Given the description of an element on the screen output the (x, y) to click on. 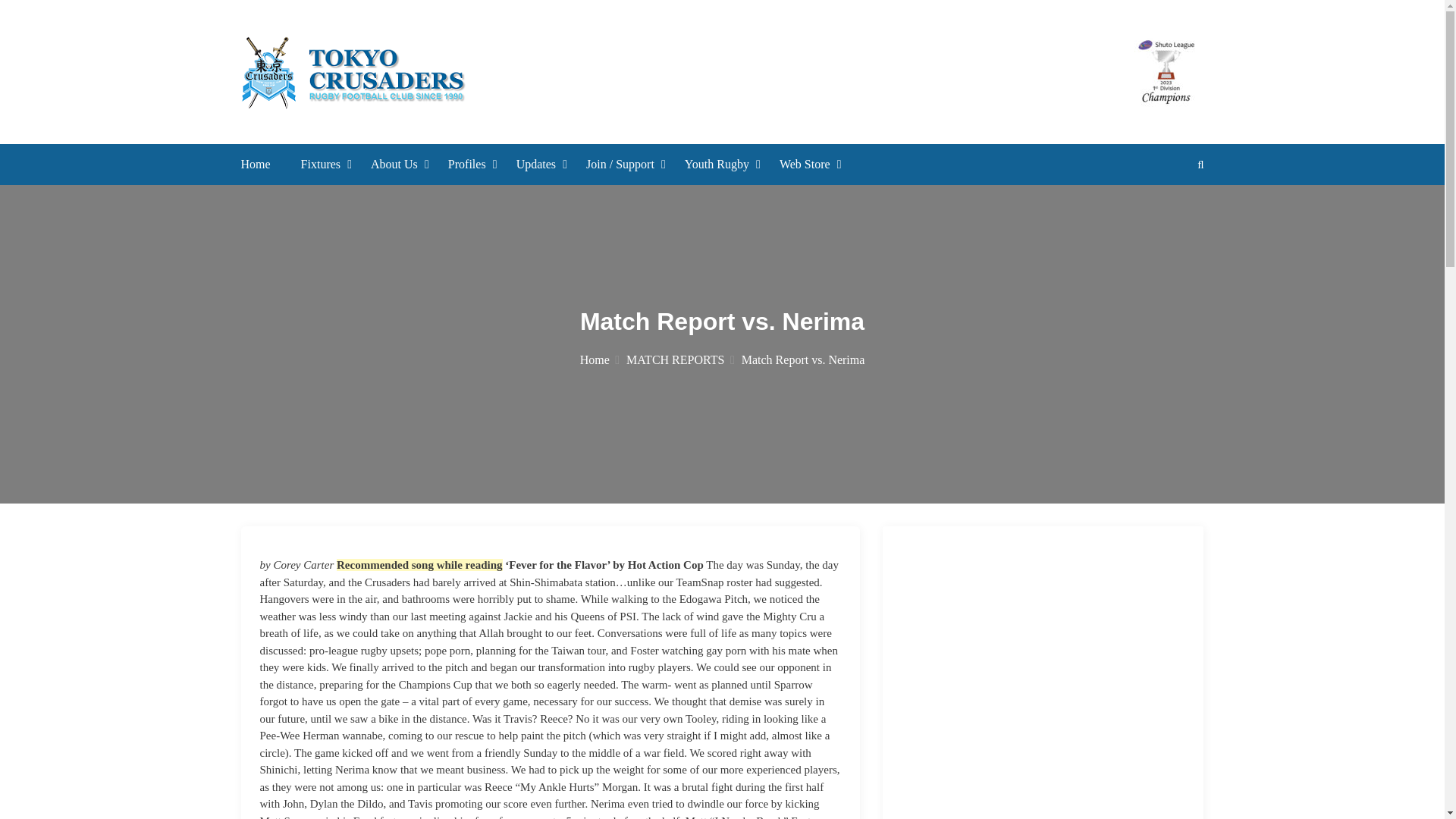
Profiles (467, 164)
Home (255, 164)
Fixtures (320, 164)
About Us (394, 164)
Updates (536, 164)
Tokyo Crusaders Rugby Football Club (654, 131)
